Given the description of an element on the screen output the (x, y) to click on. 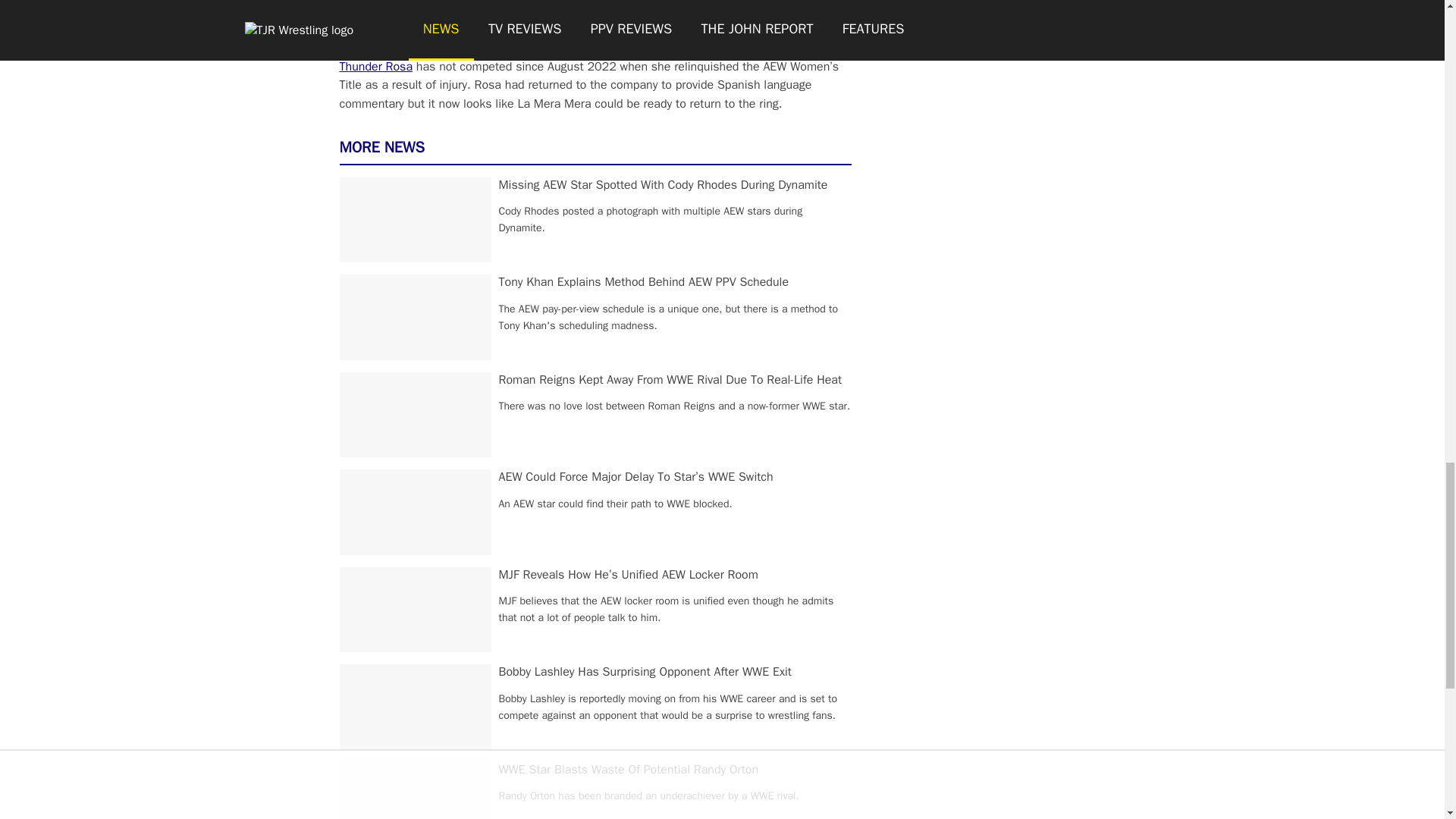
Roman Reigns Kept Away From WWE Rival Due To Real-Life Heat (671, 379)
Bobby Lashley Has Surprising Opponent After WWE Exit (645, 671)
Thunder Rosa (376, 66)
Missing AEW Star Spotted With Cody Rhodes During Dynamite (663, 184)
Tony Khan Explains Method Behind AEW PPV Schedule (644, 281)
WWE Star Blasts Waste Of Potential Randy Orton (628, 769)
